Given the description of an element on the screen output the (x, y) to click on. 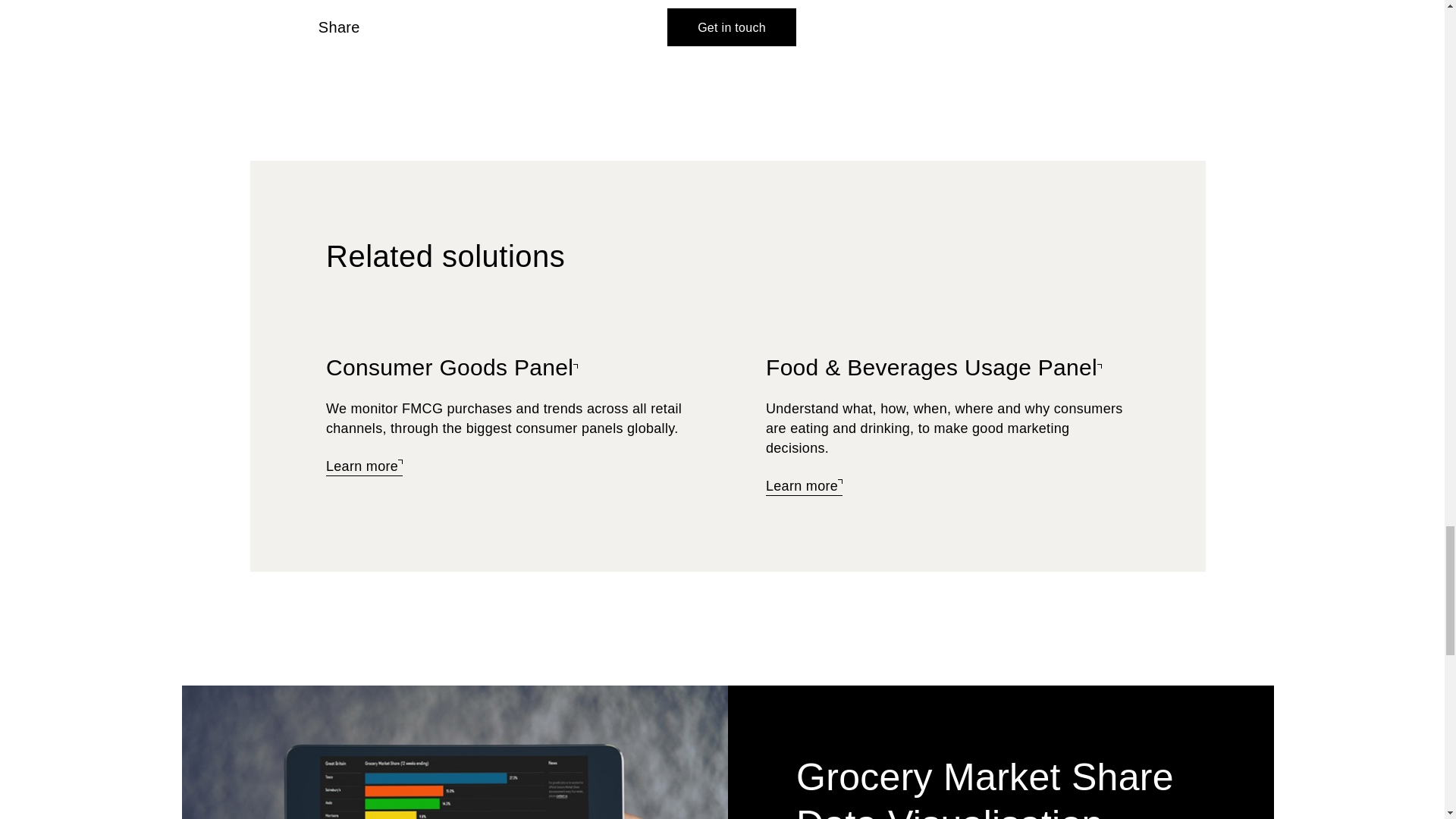
Food and Beverages Usage Panel (804, 487)
Consumer Goods Panel (452, 368)
Consumer Goods Panel (364, 466)
Food and Beverages Usage Panel (933, 368)
